Given the description of an element on the screen output the (x, y) to click on. 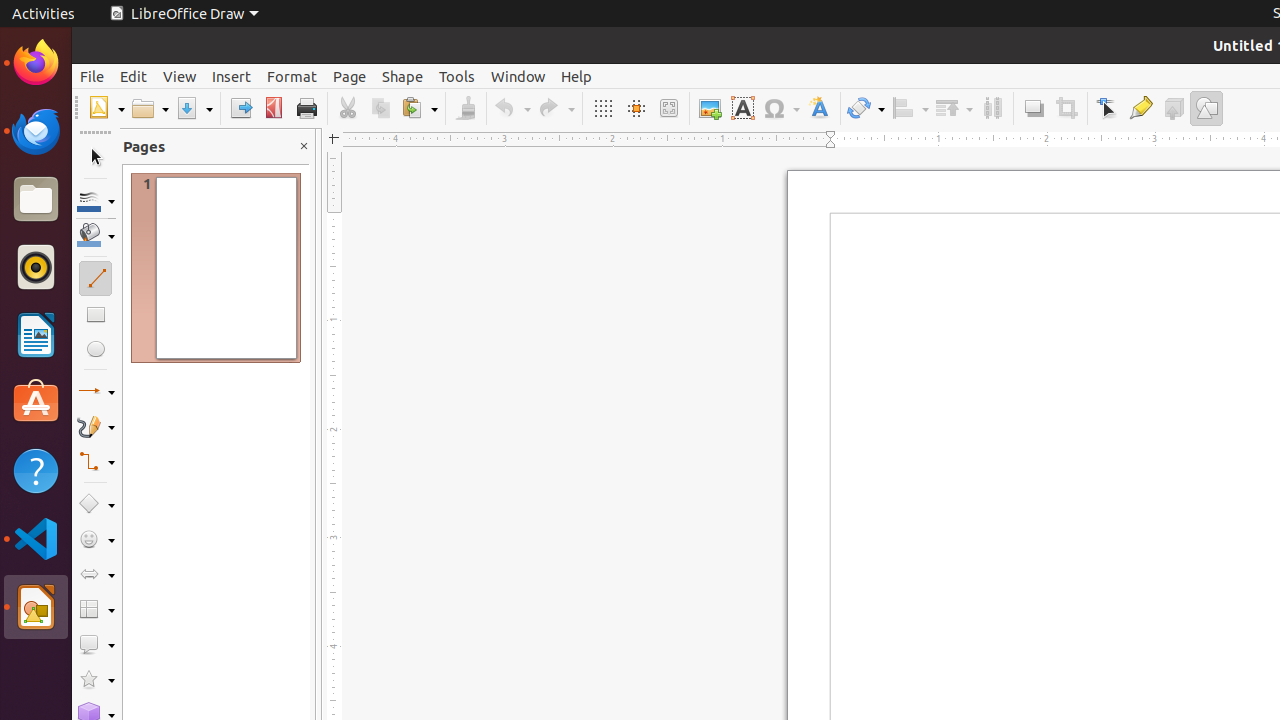
Clone Element type: push-button (465, 108)
Open Element type: push-button (150, 108)
Zoom & Pan Element type: push-button (668, 108)
Transformations Element type: push-button (866, 108)
Thunderbird Mail Element type: push-button (36, 131)
